Given the description of an element on the screen output the (x, y) to click on. 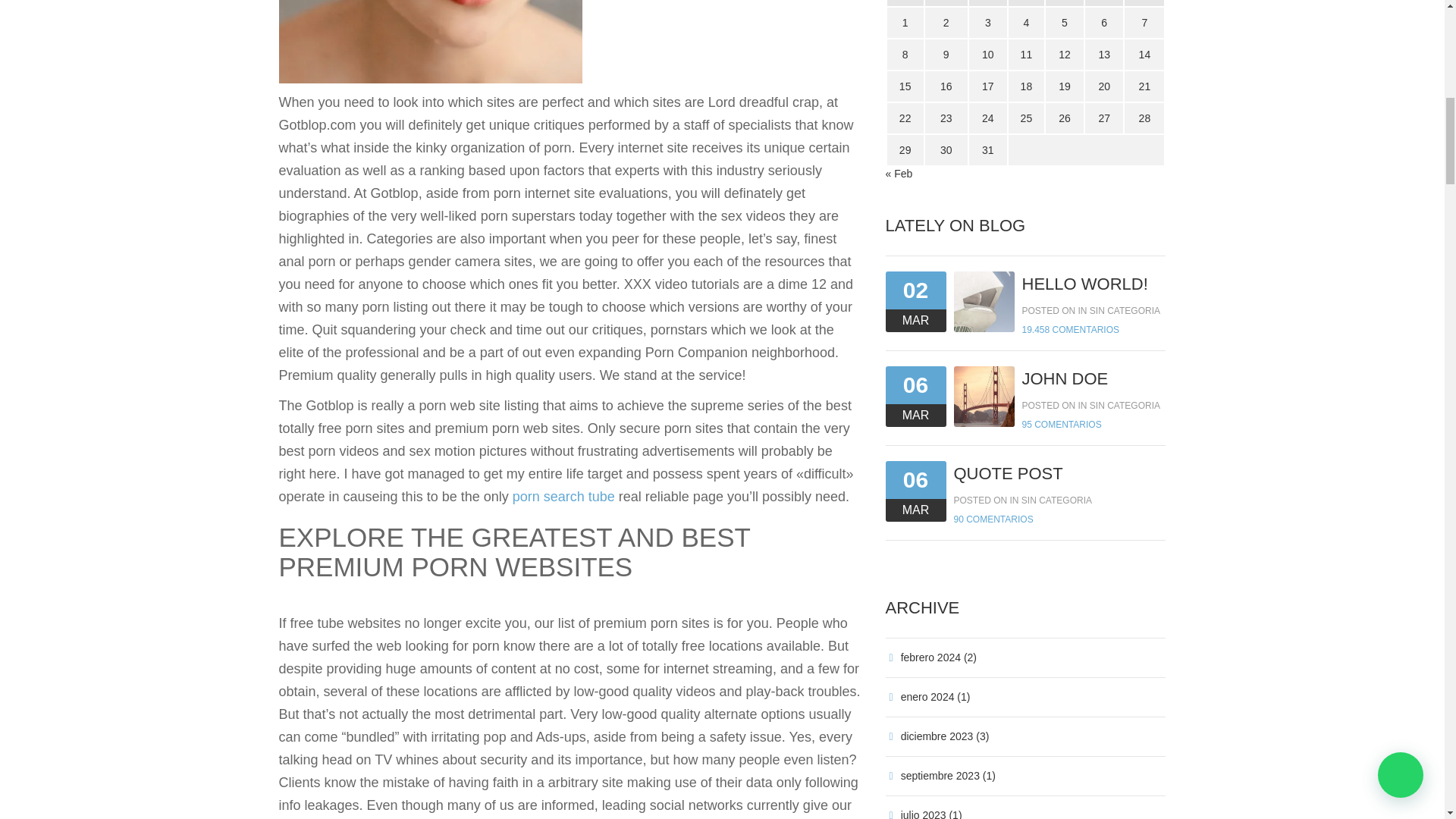
jueves (1026, 2)
domingo (1144, 2)
viernes (1064, 2)
lunes (904, 2)
martes (946, 2)
